Given the description of an element on the screen output the (x, y) to click on. 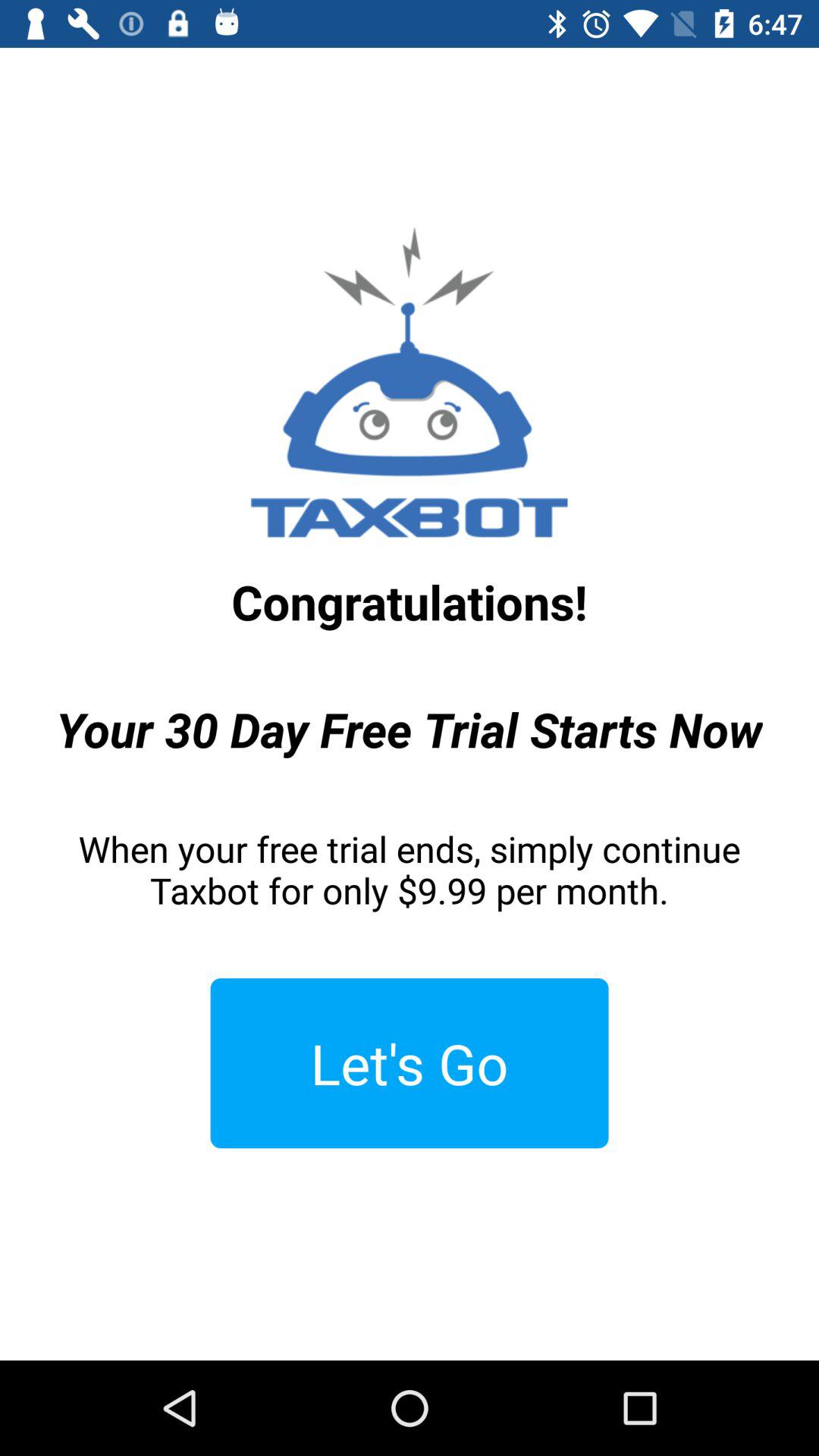
turn off the item below the when your free (409, 1063)
